Given the description of an element on the screen output the (x, y) to click on. 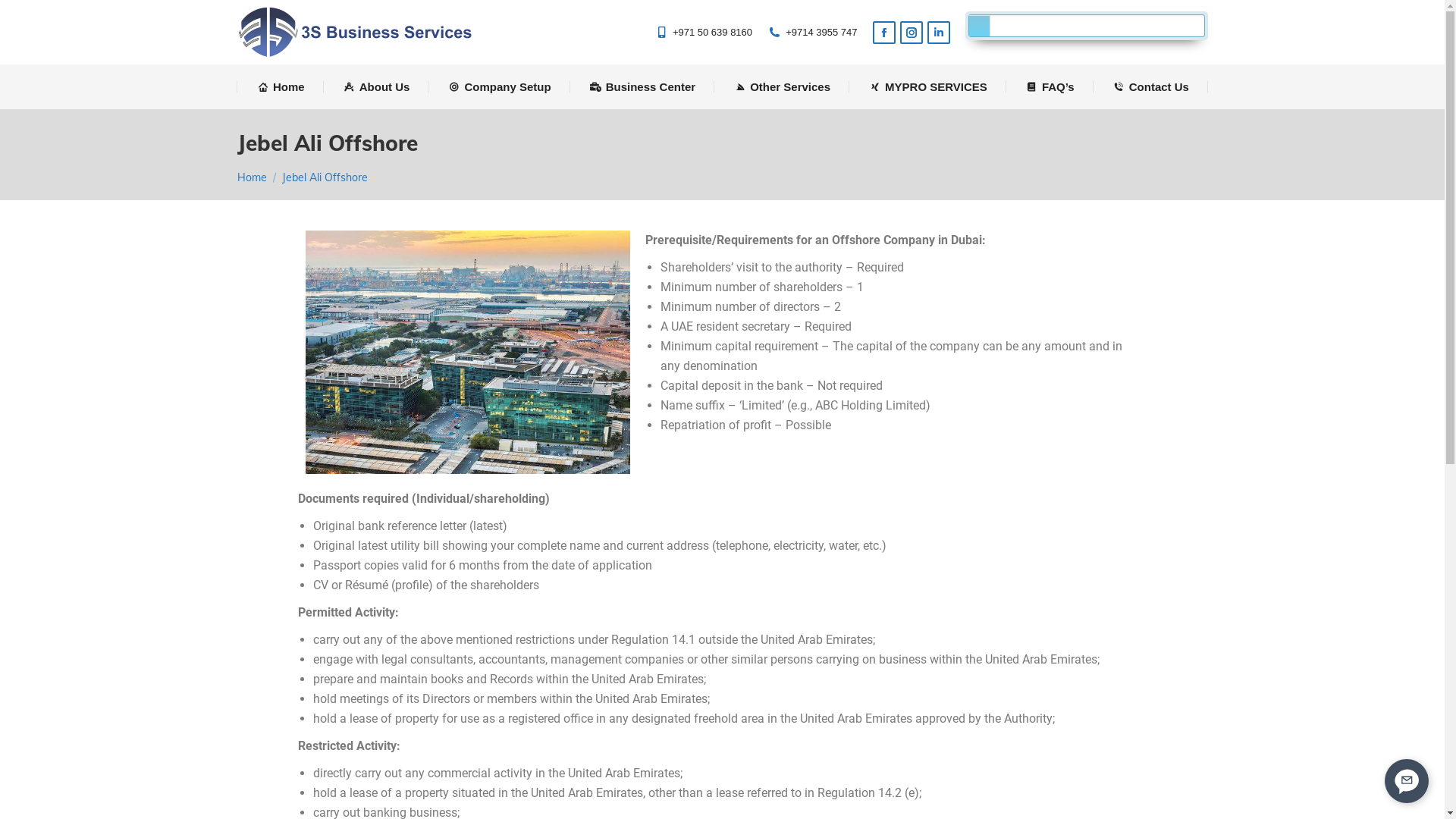
MYPRO SERVICES Element type: text (928, 86)
Linkedin page opens in new window Element type: text (938, 32)
+971 50 639 8160 Element type: text (703, 31)
Business Center Element type: text (642, 86)
Instagram page opens in new window Element type: text (911, 32)
Company Setup Element type: text (499, 86)
Home Element type: text (251, 177)
Home Element type: text (280, 86)
Other Services Element type: text (782, 86)
About Us Element type: text (376, 86)
Contact Us Element type: text (1150, 86)
+9714 3955 747 Element type: text (811, 31)
Facebook page opens in new window Element type: text (883, 32)
